Given the description of an element on the screen output the (x, y) to click on. 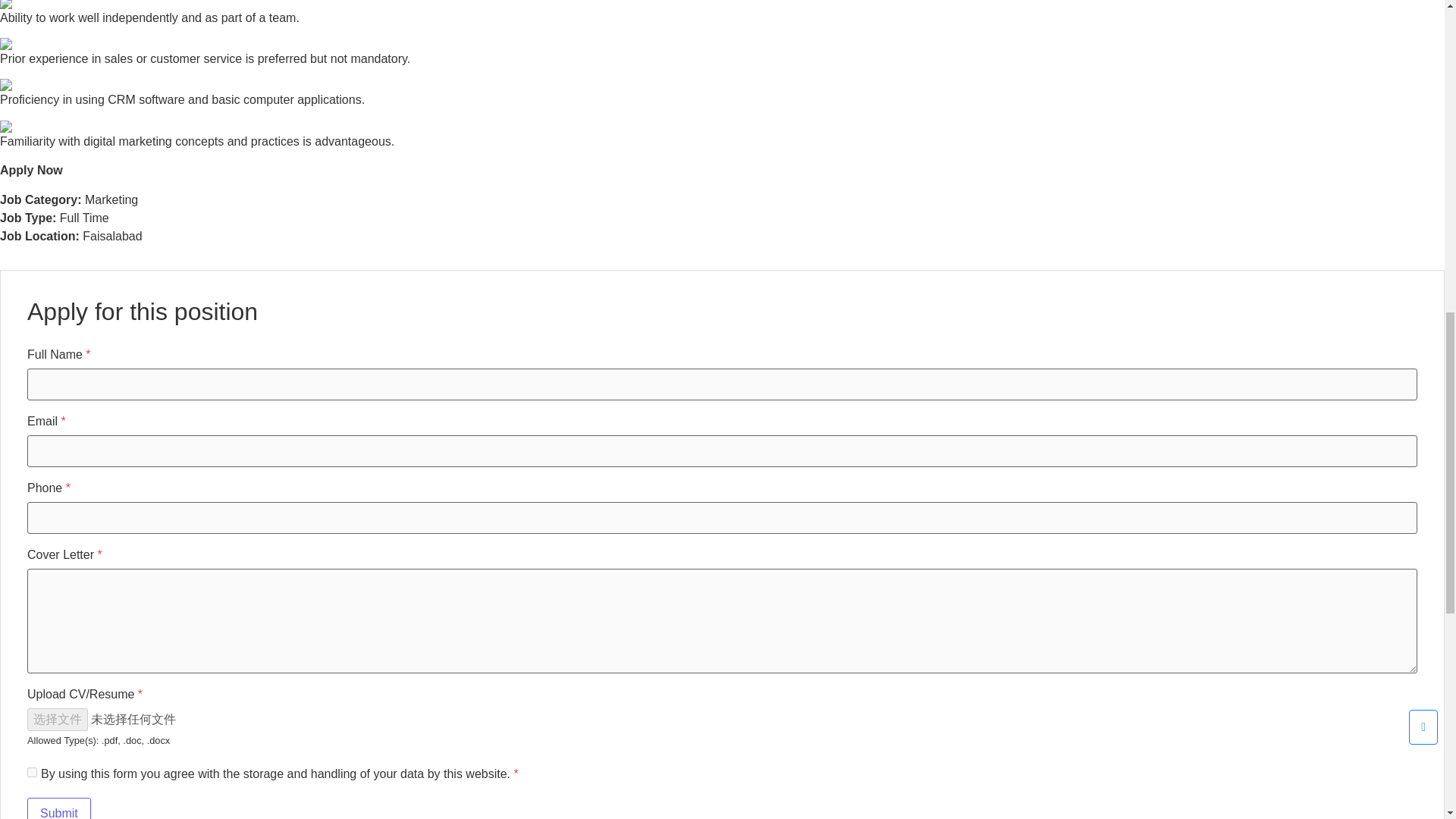
Submit (58, 808)
yes (32, 772)
Submit (58, 808)
